Given the description of an element on the screen output the (x, y) to click on. 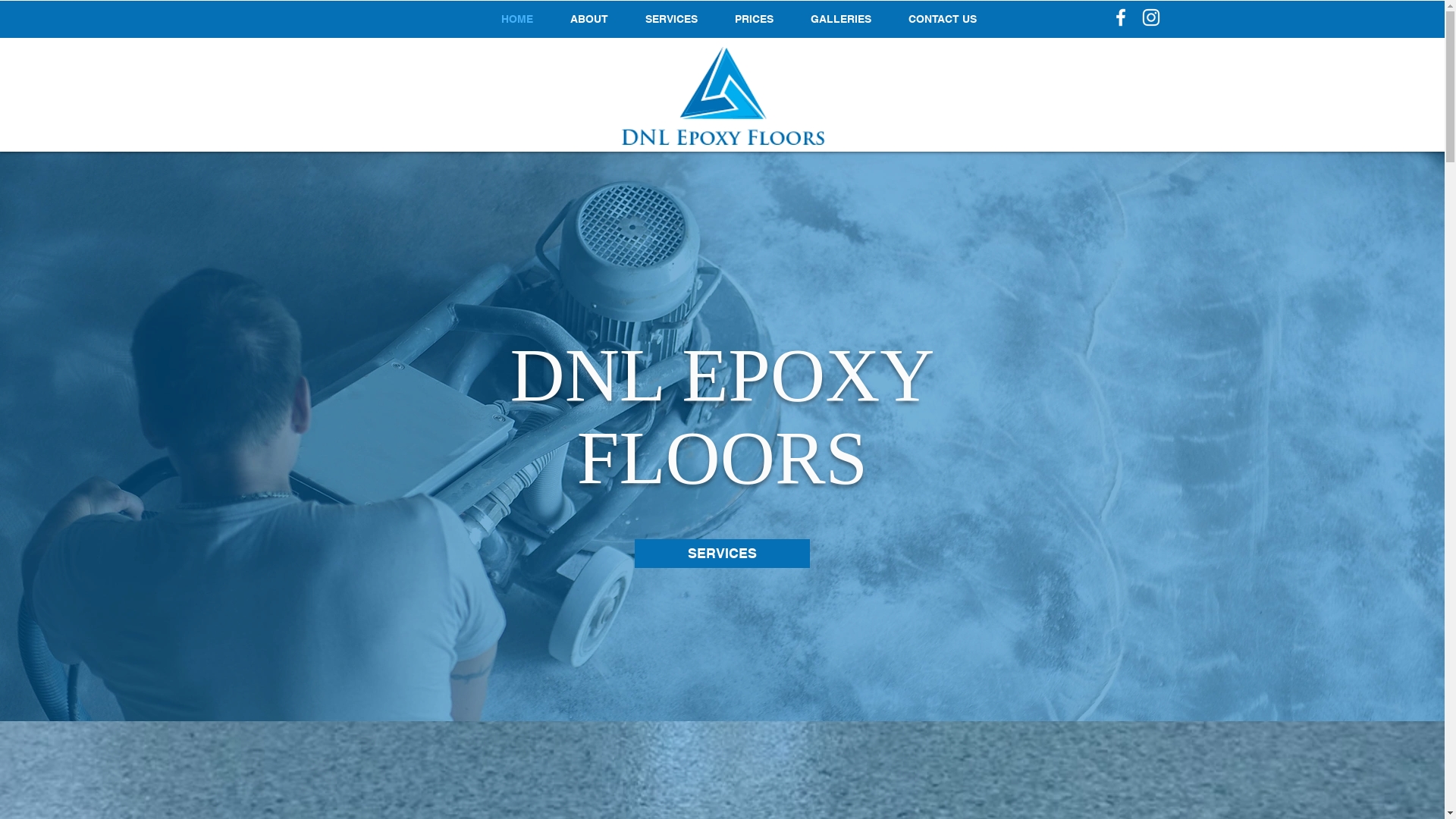
GALLERIES Element type: text (841, 18)
PRICES Element type: text (754, 18)
SERVICES Element type: text (721, 553)
HOME Element type: text (517, 18)
CONTACT US Element type: text (942, 18)
ABOUT Element type: text (589, 18)
SERVICES Element type: text (671, 18)
